Given the description of an element on the screen output the (x, y) to click on. 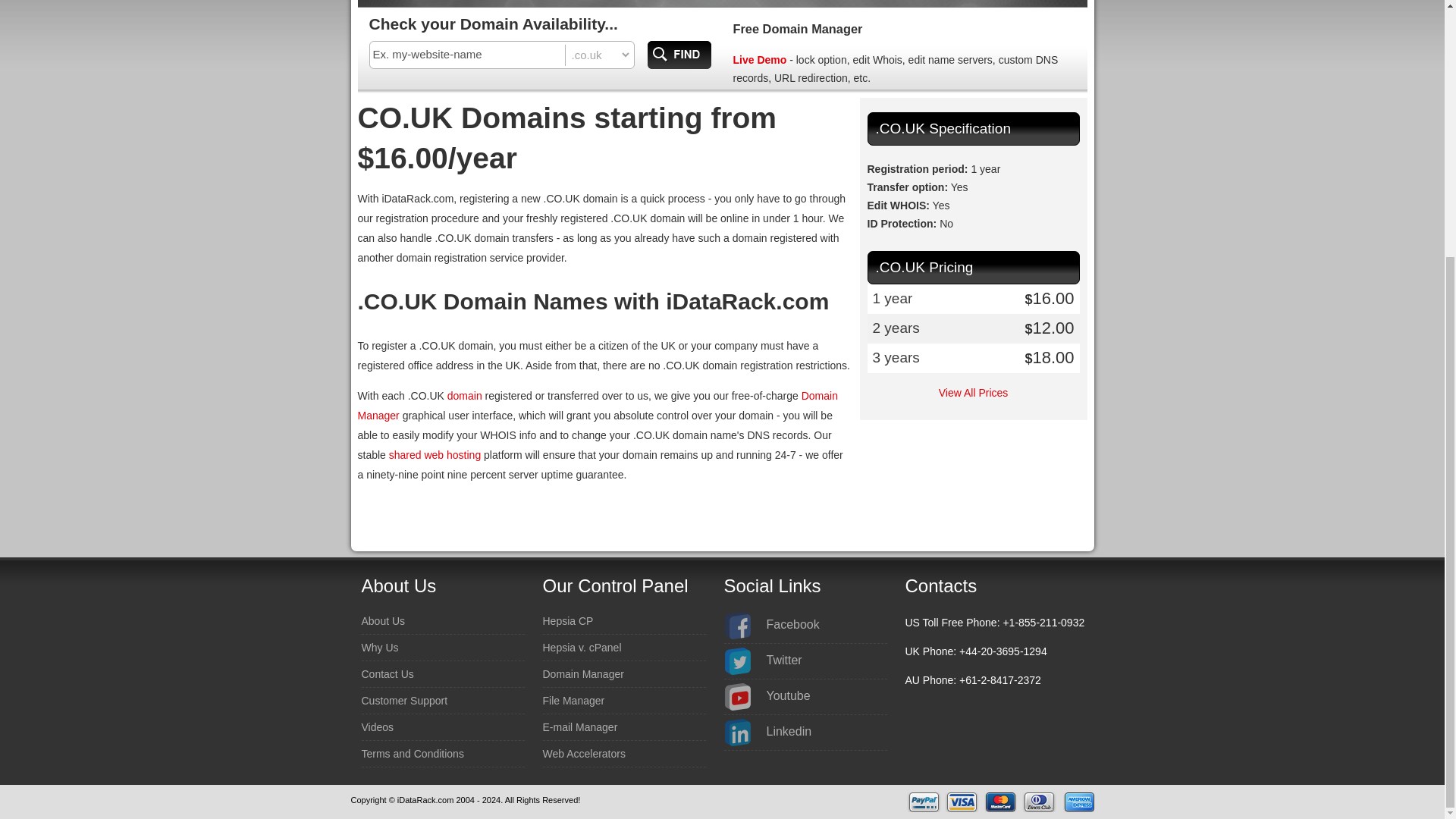
Contact Us (387, 673)
About Us (382, 620)
shared web hosting (434, 454)
Live Demo (759, 60)
text (467, 54)
Domain Manager (598, 405)
View All Prices (974, 392)
Why Us (379, 647)
domain (463, 395)
Ex. my-website-name (467, 54)
